Given the description of an element on the screen output the (x, y) to click on. 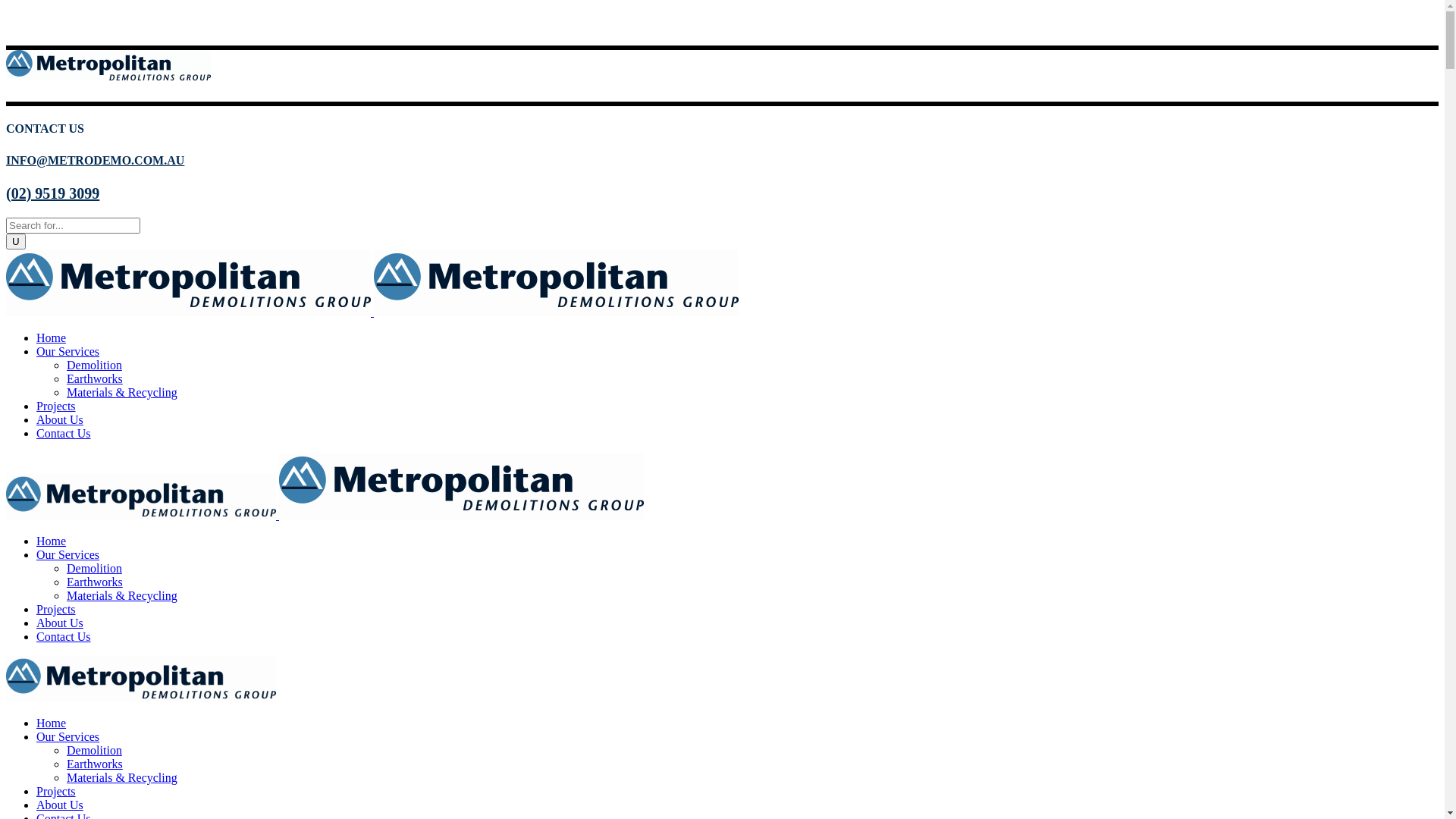
Materials & Recycling Element type: text (121, 391)
Demolition Element type: text (94, 567)
About Us Element type: text (59, 419)
Materials & Recycling Element type: text (121, 595)
Earthworks Element type: text (94, 581)
Earthworks Element type: text (94, 763)
U Element type: text (15, 241)
Projects Element type: text (55, 790)
Projects Element type: text (55, 608)
(02) 9519 3099 Element type: text (52, 193)
Our Services Element type: text (67, 736)
Earthworks Element type: text (94, 378)
About Us Element type: text (59, 804)
Home Element type: text (50, 337)
Demolition Element type: text (94, 749)
Home Element type: text (50, 722)
Contact Us Element type: text (63, 636)
Our Services Element type: text (67, 554)
Projects Element type: text (55, 405)
Contact Us Element type: text (63, 432)
INFO@METRODEMO.COM.AU Element type: text (95, 159)
Materials & Recycling Element type: text (121, 777)
About Us Element type: text (59, 622)
Home Element type: text (50, 540)
Our Services Element type: text (67, 351)
Demolition Element type: text (94, 364)
